Given the description of an element on the screen output the (x, y) to click on. 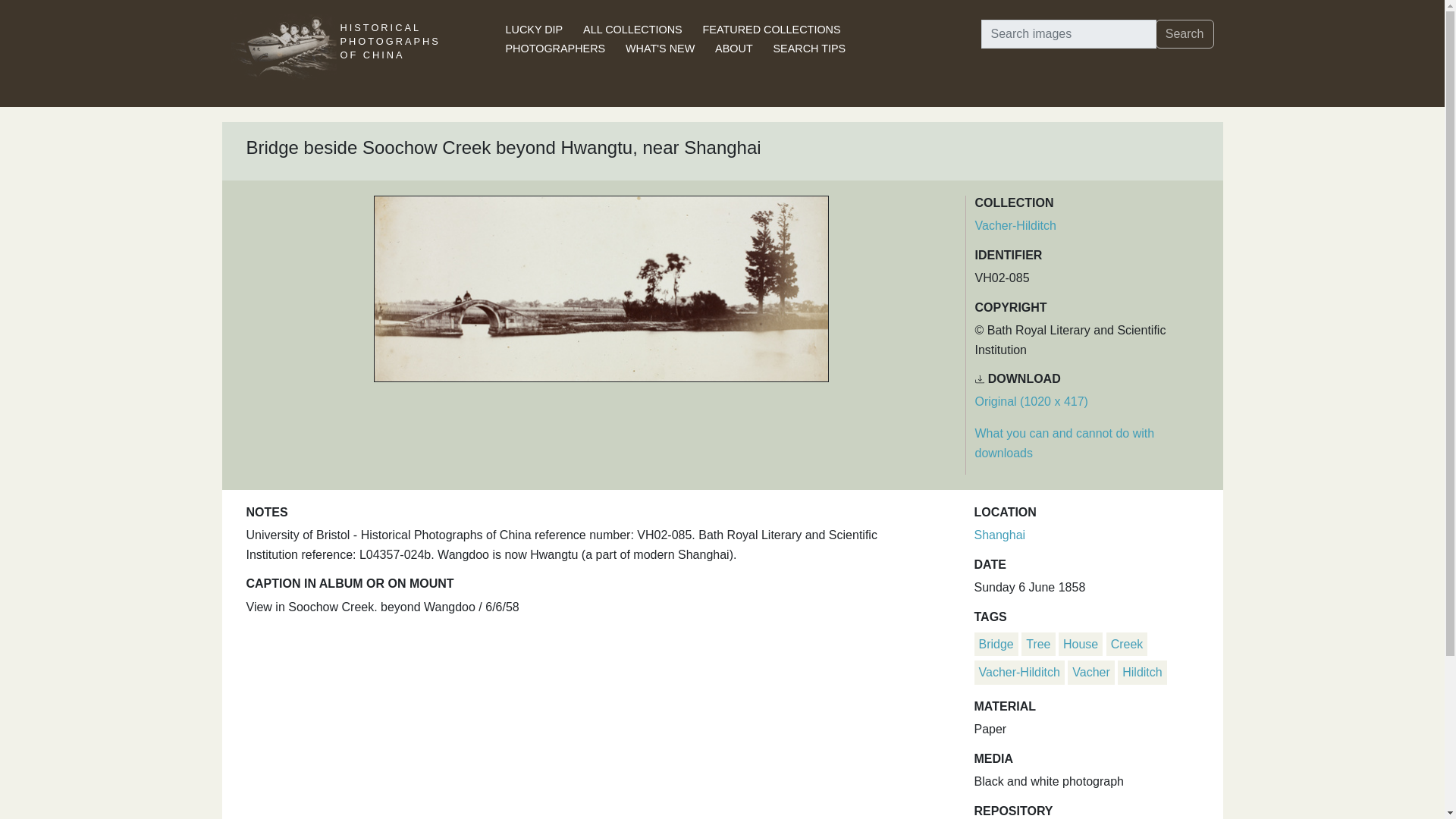
Hilditch (1141, 671)
WHAT'S NEW (660, 48)
LUCKY DIP (533, 29)
FEATURED COLLECTIONS (772, 29)
House (1079, 644)
What you can and cannot do with downloads (1064, 442)
Shanghai (999, 534)
ABOUT (733, 48)
Tree (1037, 644)
Creek (1126, 644)
Vacher-Hilditch (1018, 671)
Search (1185, 33)
ALL COLLECTIONS (632, 29)
Bridge (995, 644)
SEARCH TIPS (809, 48)
